Given the description of an element on the screen output the (x, y) to click on. 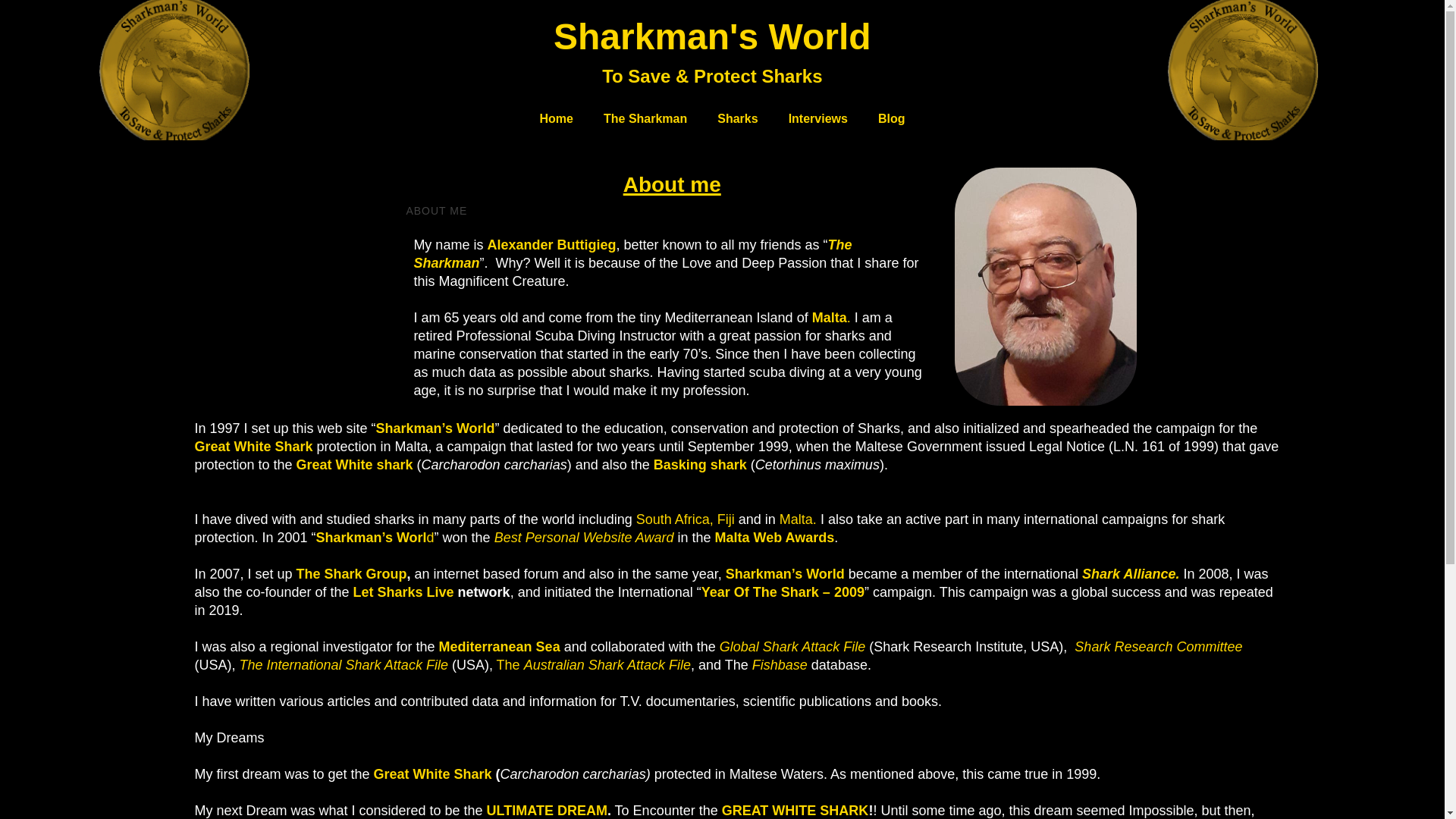
The Sharkman (644, 118)
Home (556, 118)
Sharks (737, 118)
Interviews (818, 118)
